Given the description of an element on the screen output the (x, y) to click on. 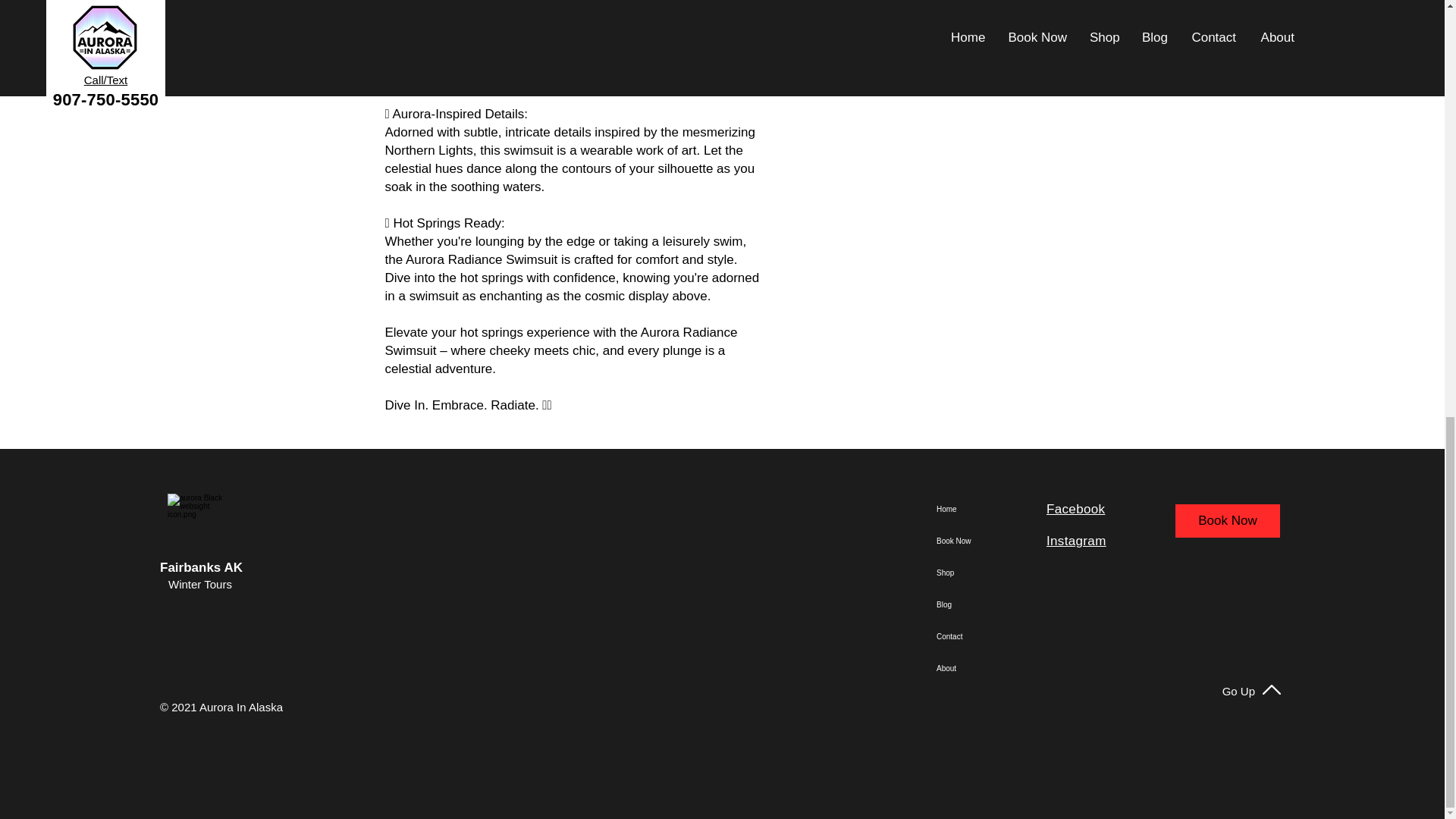
Fairbanks AK (201, 567)
Winter Tours (199, 584)
Home (994, 509)
Go Up (1239, 690)
Blog (994, 604)
Shop (994, 572)
Instagram (1076, 540)
Book Now (994, 541)
About (994, 668)
Book Now (1226, 520)
Facebook (1075, 509)
Contact (994, 636)
